Given the description of an element on the screen output the (x, y) to click on. 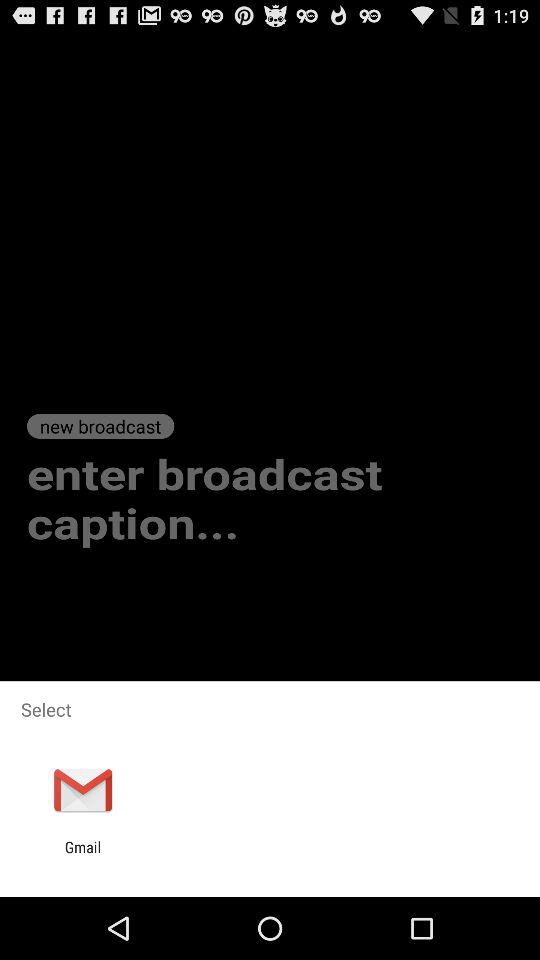
open icon below select (82, 789)
